Given the description of an element on the screen output the (x, y) to click on. 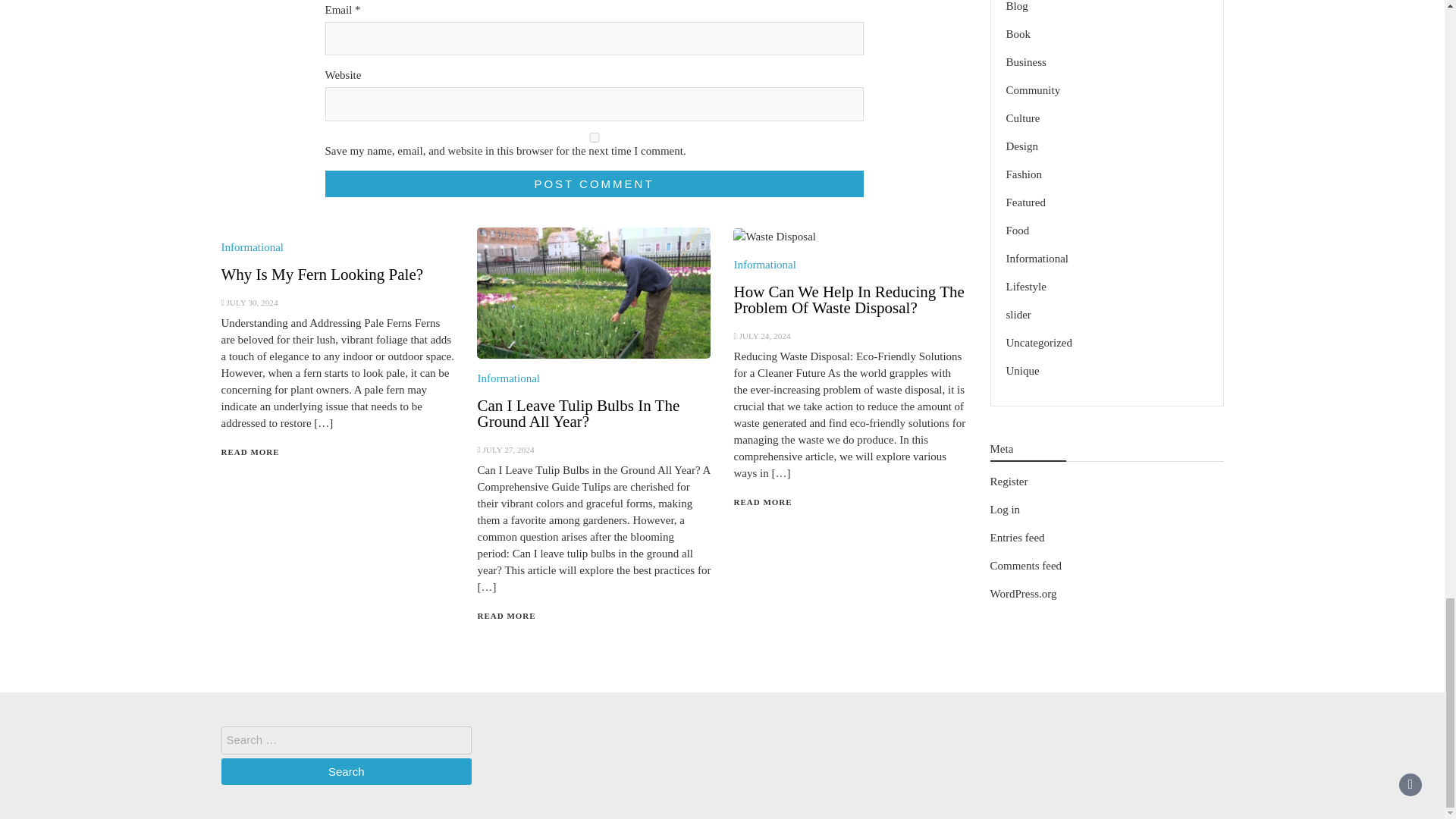
Can I Leave Tulip Bulbs In The Ground All Year? (578, 413)
JULY 30, 2024 (251, 302)
How Can We Help In Reducing The Problem Of Waste Disposal? (848, 299)
READ MORE (762, 501)
Search (346, 771)
JULY 24, 2024 (764, 335)
yes (593, 137)
Search for: (346, 740)
Search (346, 771)
READ MORE (250, 451)
Why Is My Fern Looking Pale? (322, 274)
Informational (763, 264)
READ MORE (506, 614)
Post Comment (593, 183)
Post Comment (593, 183)
